Given the description of an element on the screen output the (x, y) to click on. 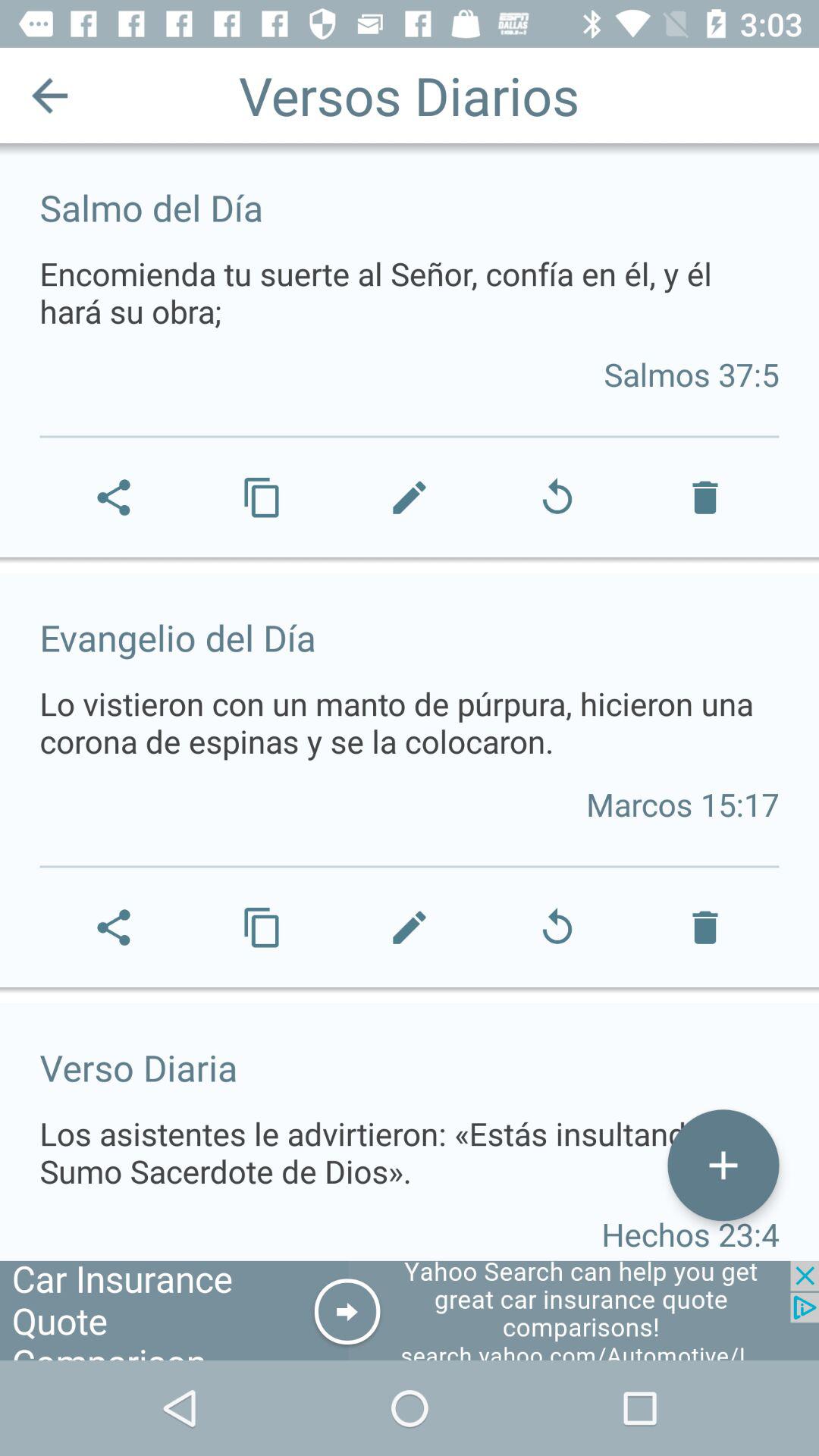
add button (723, 1165)
